Given the description of an element on the screen output the (x, y) to click on. 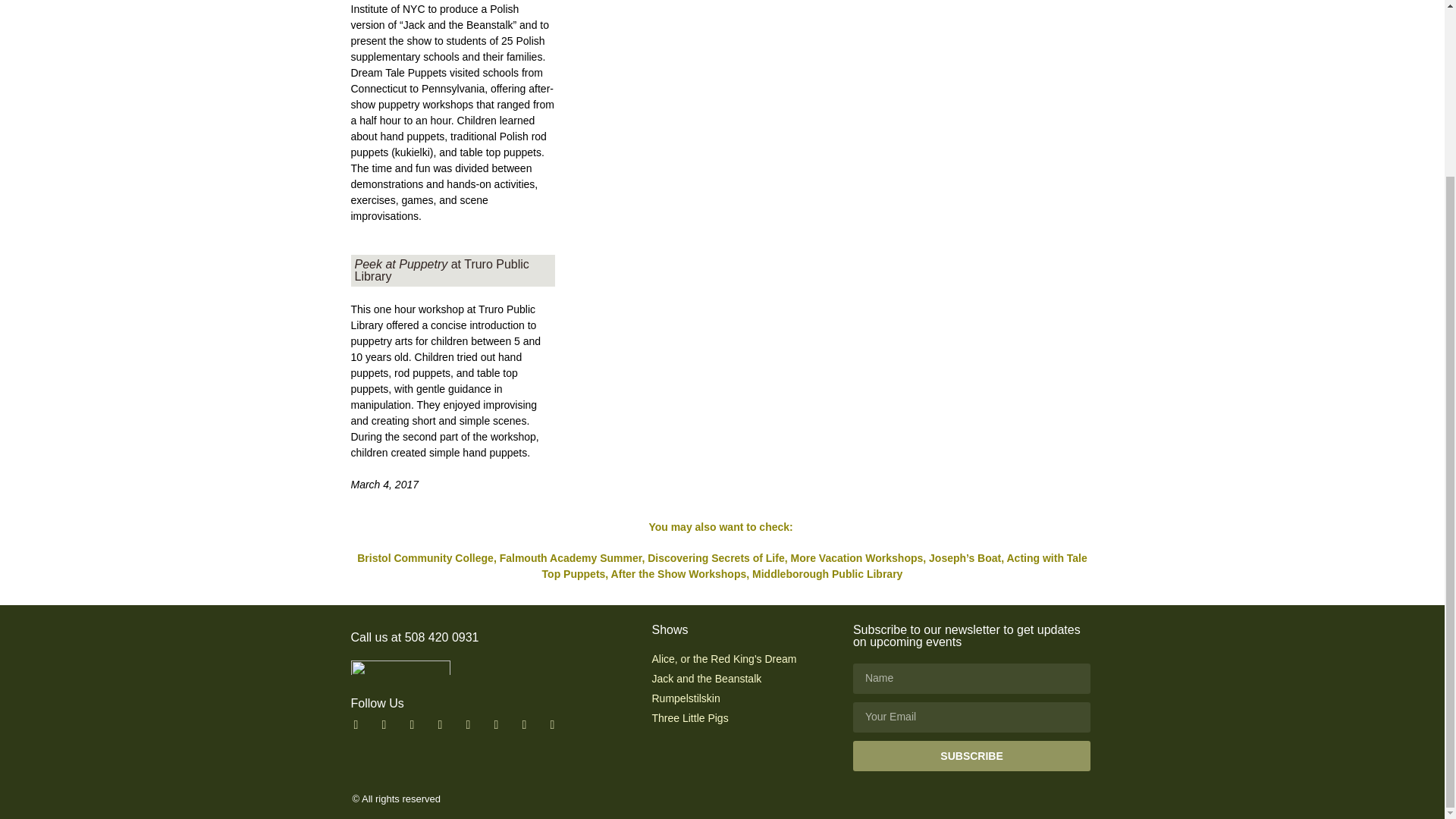
After the Show Workshops (678, 573)
Discovering Secrets of Life (715, 558)
Falmouth Academy Summer (570, 558)
Middleborough Public Library (827, 573)
More Vacation Workshops (856, 558)
Acting with Tale Top Puppets (814, 565)
Bristol Community College (424, 558)
